Given the description of an element on the screen output the (x, y) to click on. 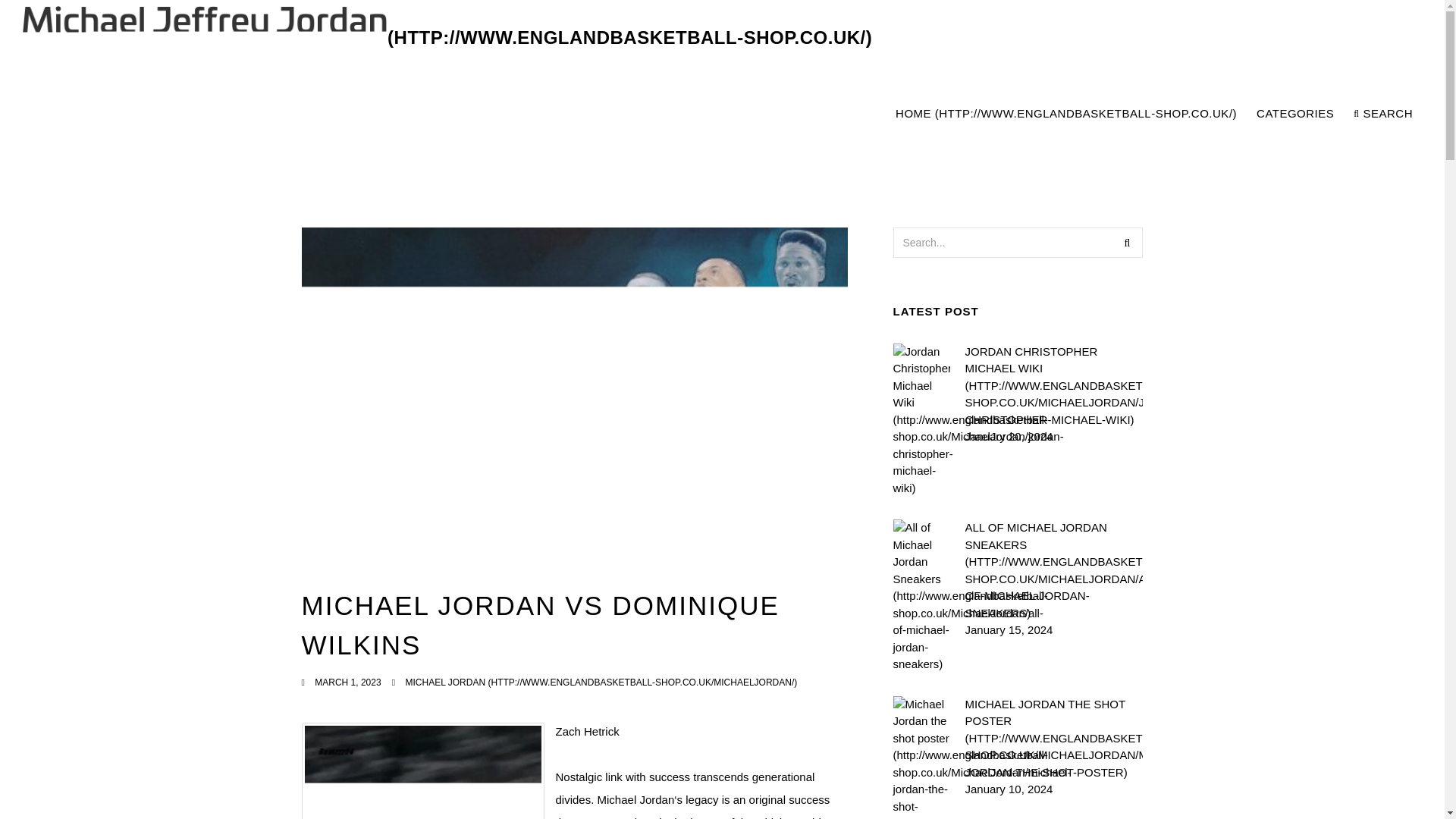
ALL OF MICHAEL JORDAN SNEAKERS (1052, 570)
HOME (1066, 113)
MICHAEL JORDAN (600, 682)
CATEGORIES (1294, 113)
MICHAEL JORDAN THE SHOT POSTER (1052, 739)
JORDAN CHRISTOPHER MICHAEL WIKI (1052, 385)
Search (1126, 242)
Michael Jeffrey Jordan (447, 38)
SEARCH (1382, 113)
